Given the description of an element on the screen output the (x, y) to click on. 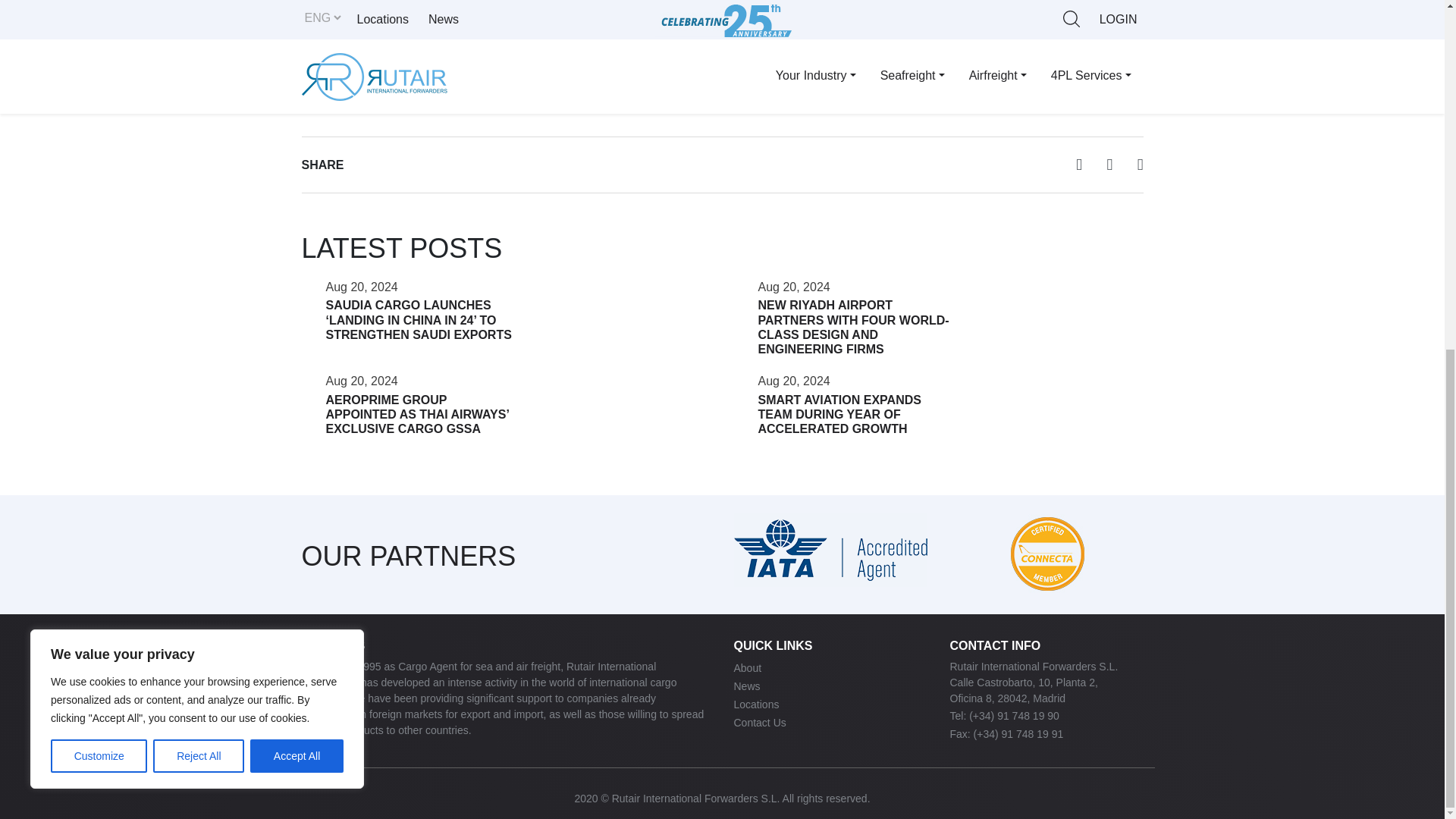
Reject All (198, 151)
Customize (98, 151)
Accept All (296, 151)
